Given the description of an element on the screen output the (x, y) to click on. 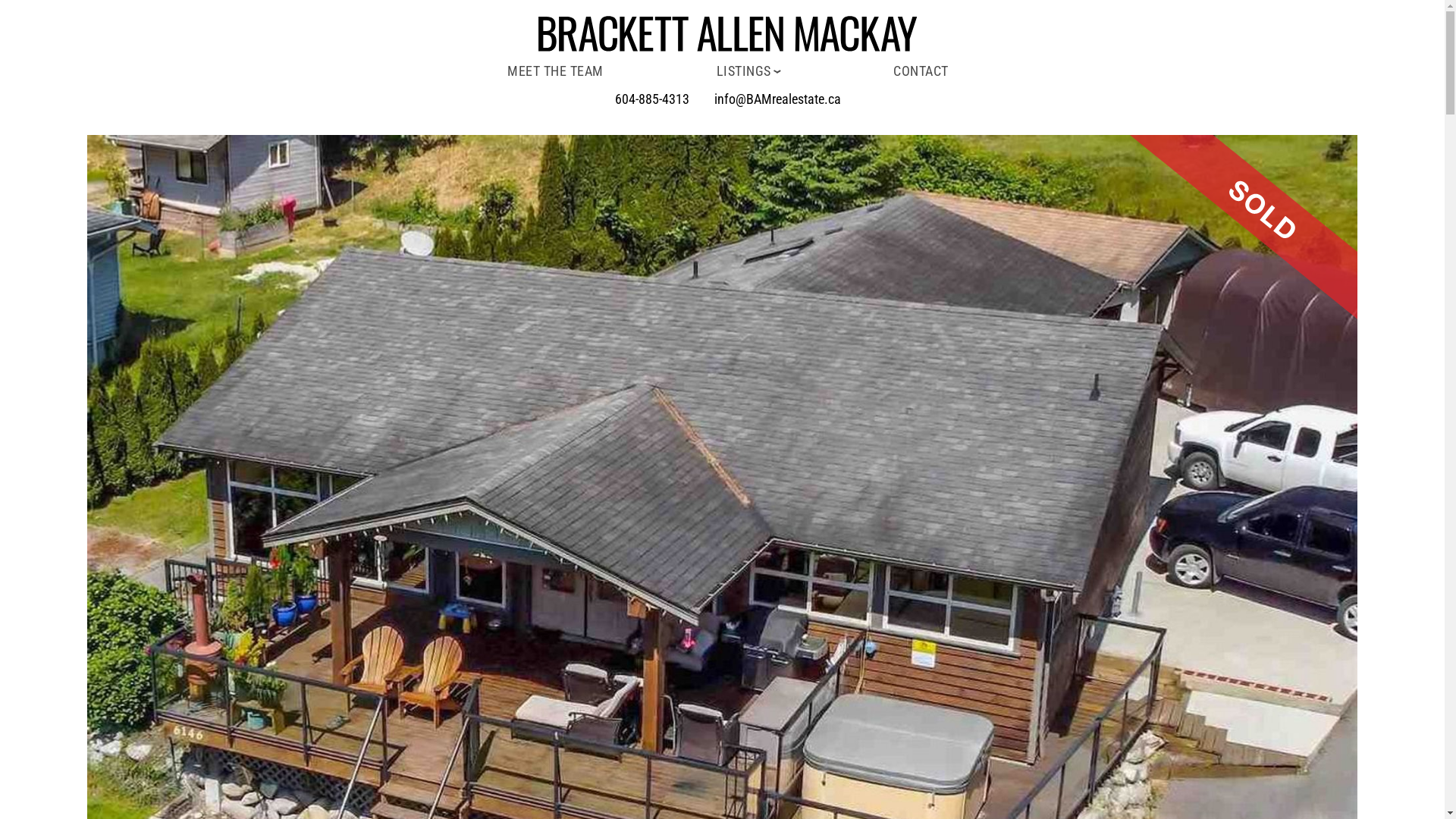
CONTACT Element type: text (920, 70)
604-885-4313 Element type: text (651, 98)
MEET THE TEAM Element type: text (555, 70)
info@BAMrealestate.ca Element type: text (777, 98)
LISTINGS Element type: text (748, 70)
Sold Banner Element type: hover (1243, 226)
